Given the description of an element on the screen output the (x, y) to click on. 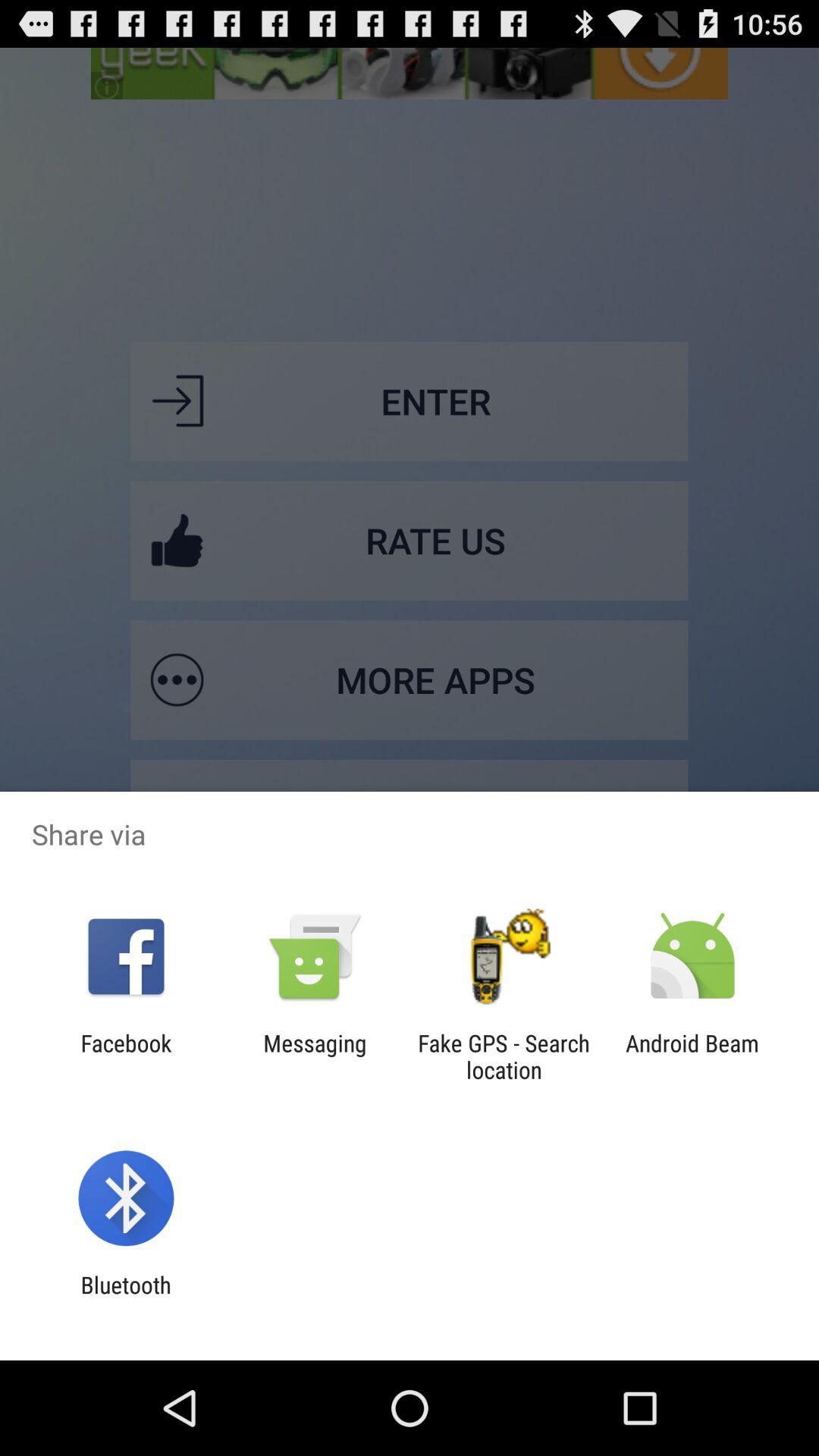
jump until the messaging (314, 1056)
